Given the description of an element on the screen output the (x, y) to click on. 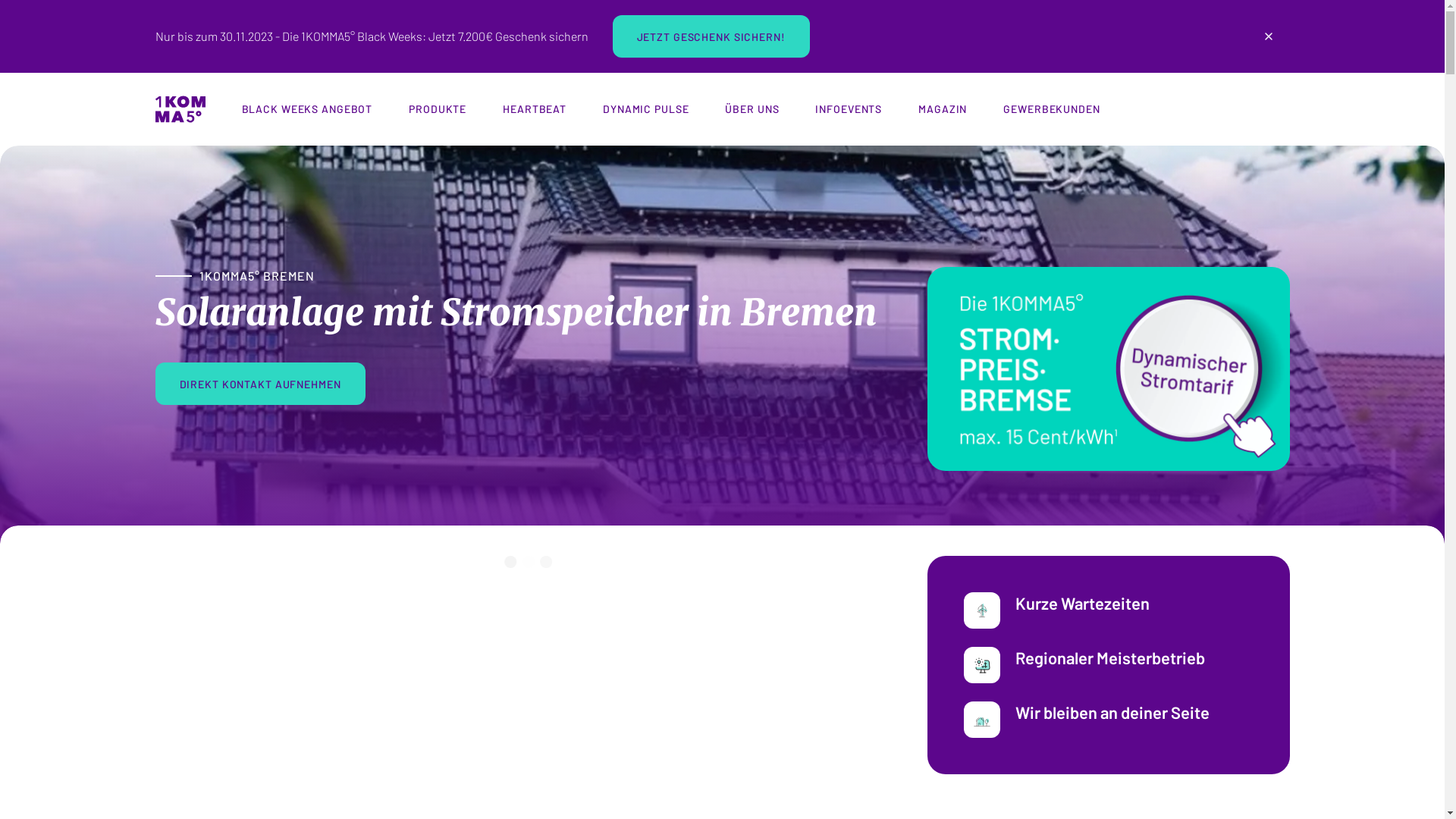
DIREKT KONTAKT AUFNEHMEN Element type: text (259, 383)
JETZT GESCHENK SICHERN! Element type: text (710, 36)
BLACK WEEKS ANGEBOT Element type: text (306, 108)
MAGAZIN Element type: text (942, 108)
DYNAMIC PULSE Element type: text (645, 108)
GEWERBEKUNDEN Element type: text (1051, 108)
HEARTBEAT Element type: text (534, 108)
INFOEVENTS Element type: text (848, 108)
